Given the description of an element on the screen output the (x, y) to click on. 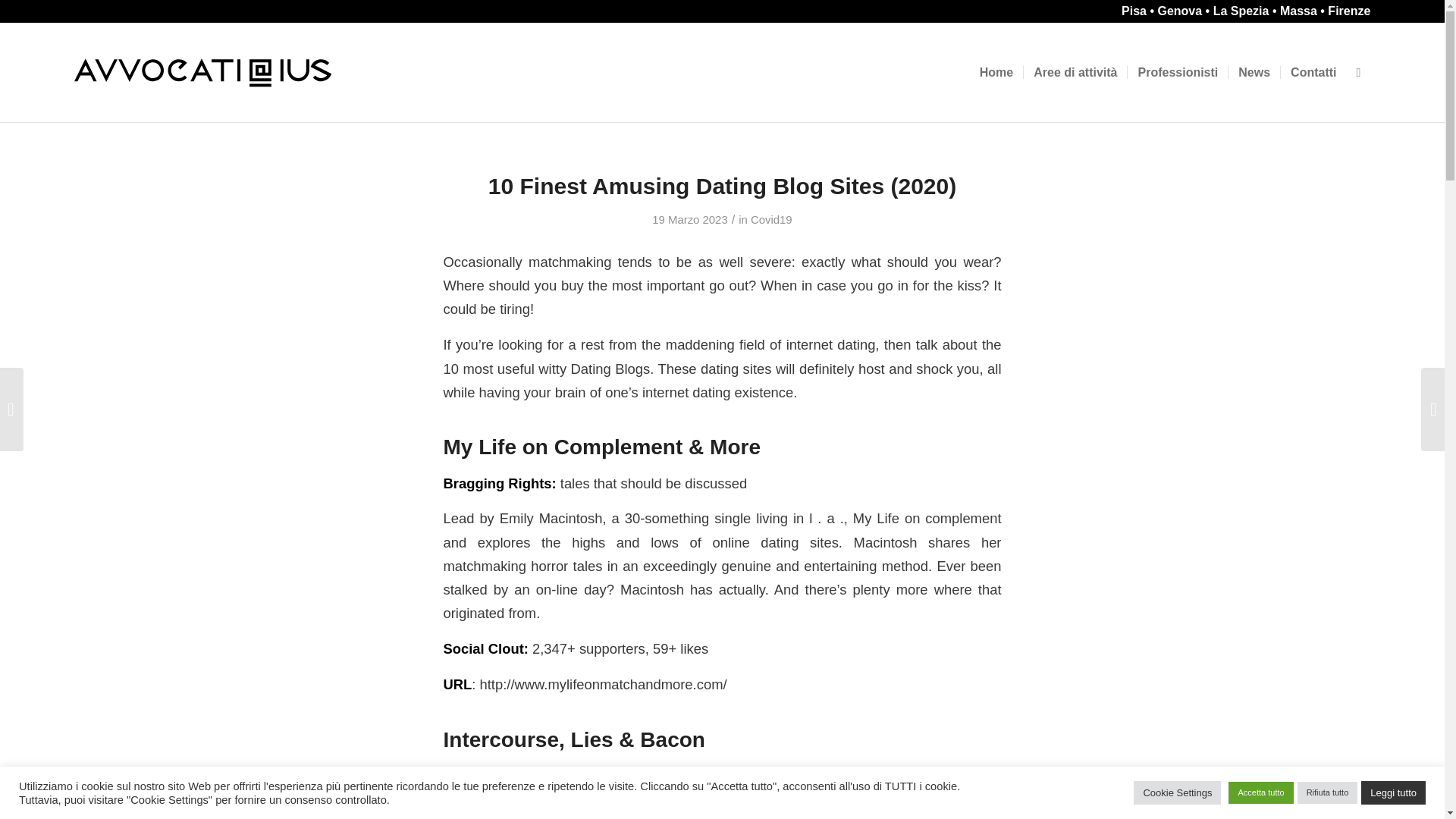
Accetta tutto (1260, 792)
Covid19 (771, 219)
Rifiuta tutto (1327, 792)
Professionisti (1176, 72)
Leggi tutto (1393, 792)
Cookie Settings (1177, 792)
